Given the description of an element on the screen output the (x, y) to click on. 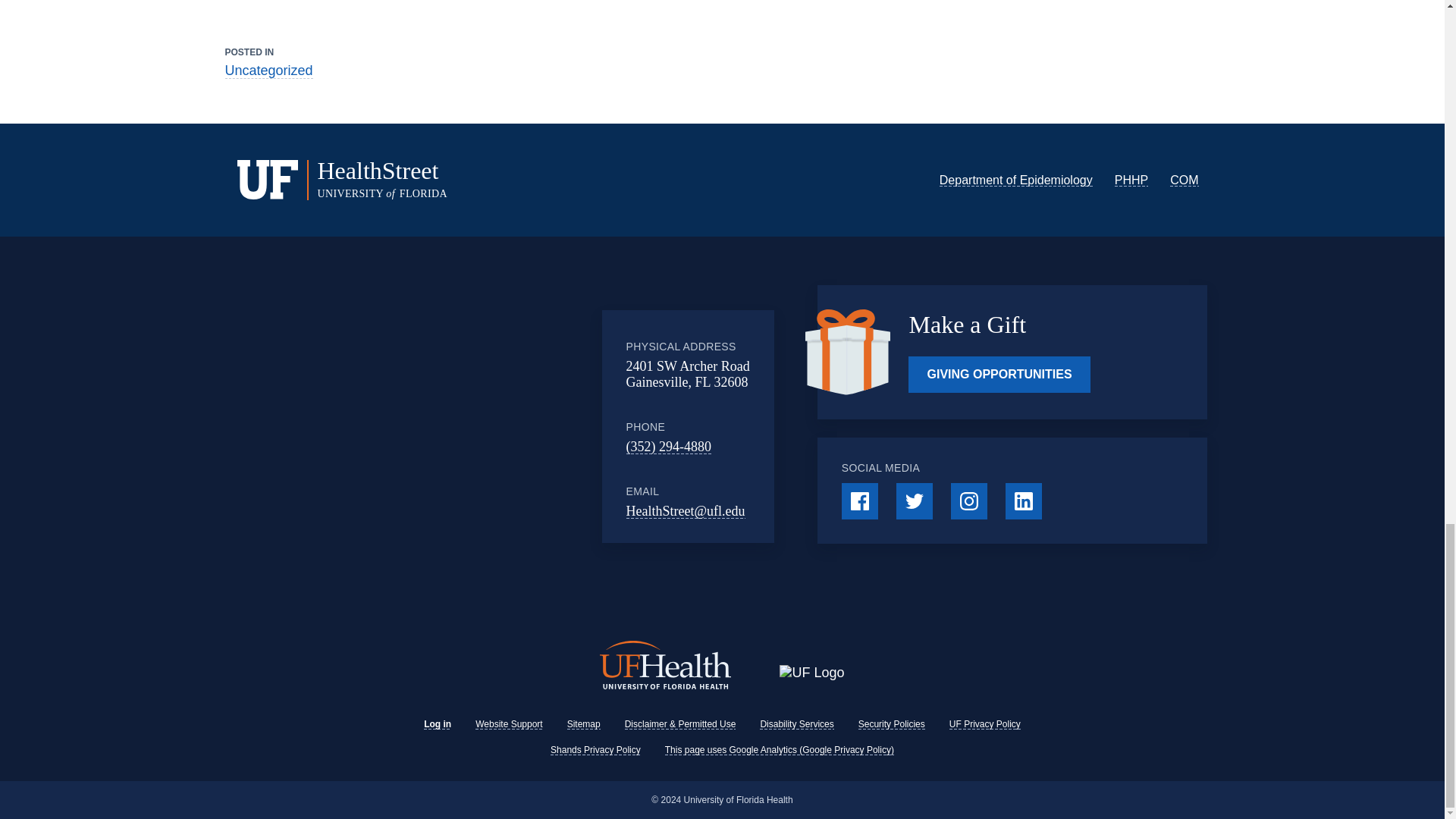
Department of Epidemiology (1016, 179)
Security Policies (891, 724)
PHHP (1131, 179)
Shands Privacy Policy (595, 749)
UF Privacy Policy (984, 724)
Google Maps Embed (477, 426)
COM (1184, 179)
Log in (437, 724)
Sitemap (583, 724)
Disability Services (796, 724)
Website Support (509, 724)
